Given the description of an element on the screen output the (x, y) to click on. 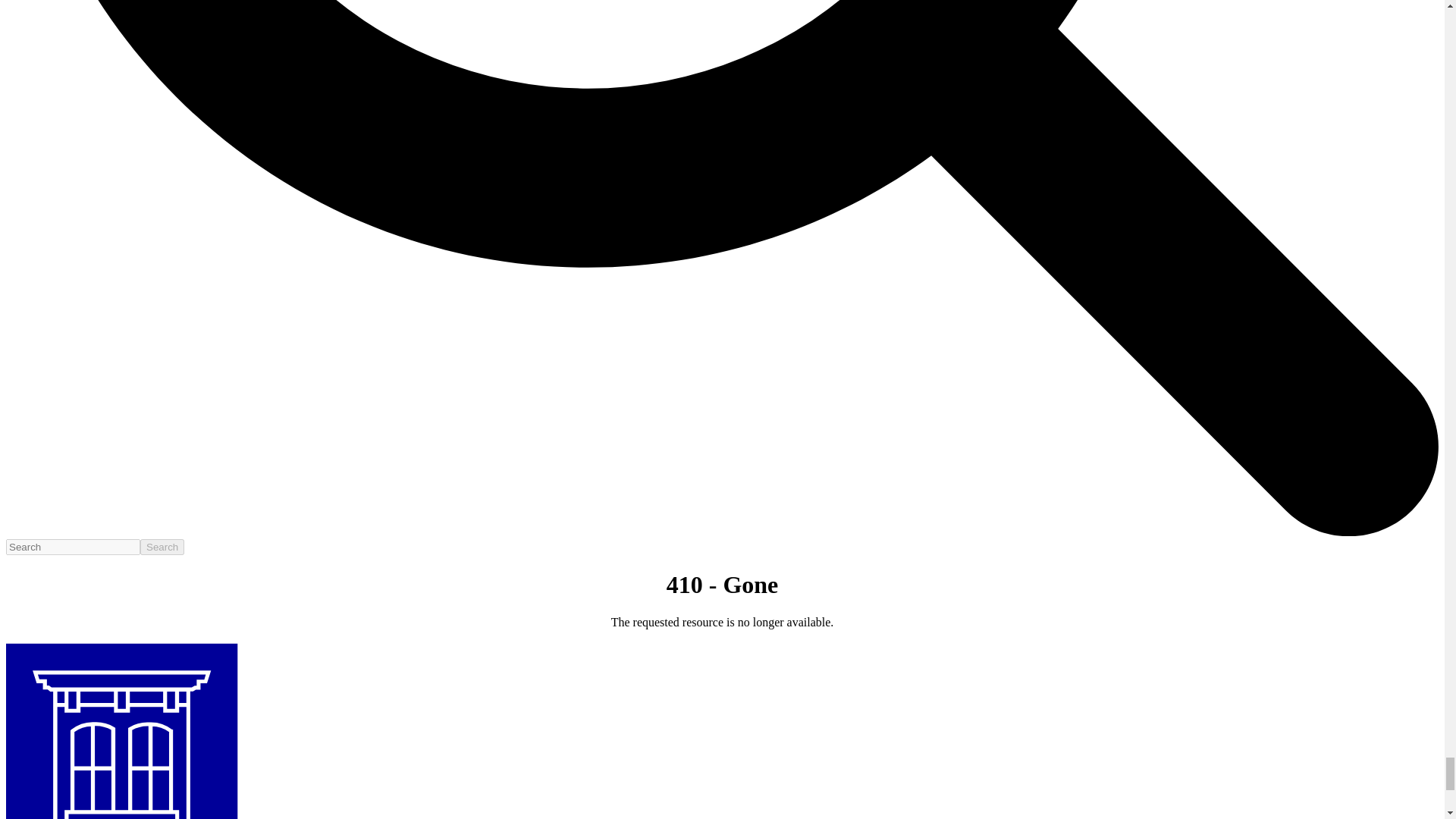
Search (161, 546)
